Given the description of an element on the screen output the (x, y) to click on. 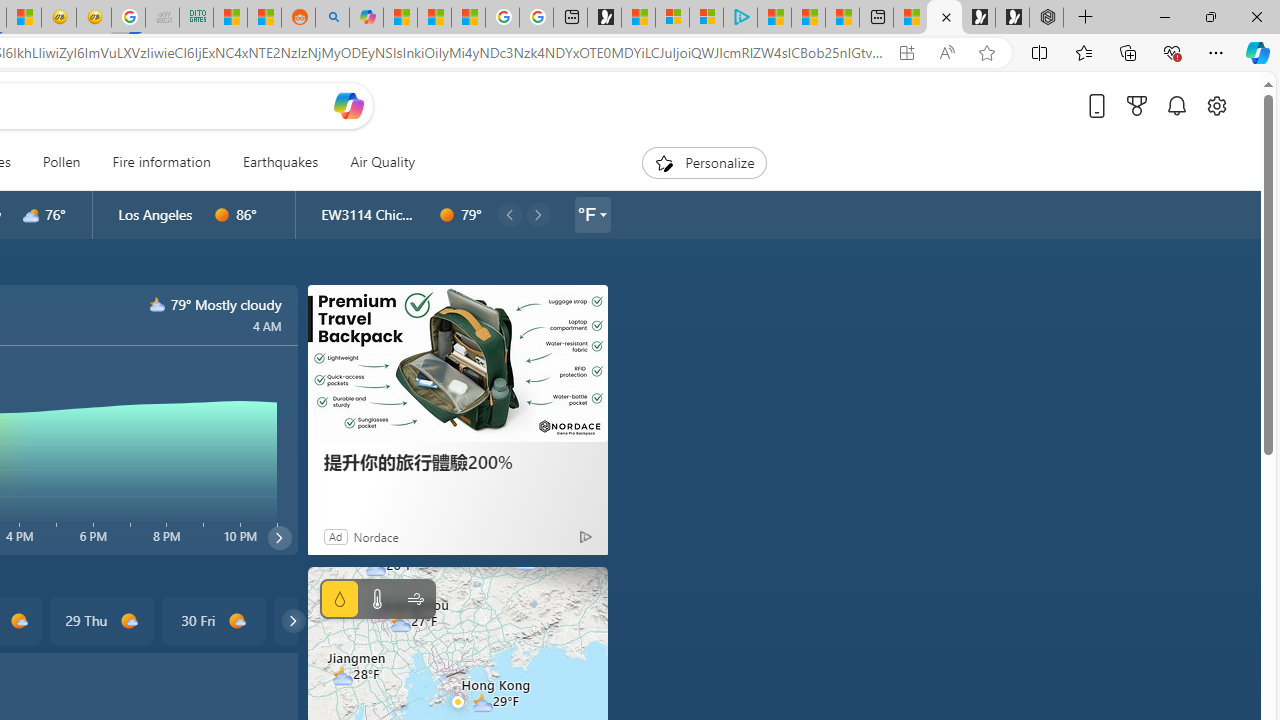
Fire information (161, 162)
31 Sat d1000 (324, 620)
Precipitation (339, 599)
d3000 (31, 215)
